Given the description of an element on the screen output the (x, y) to click on. 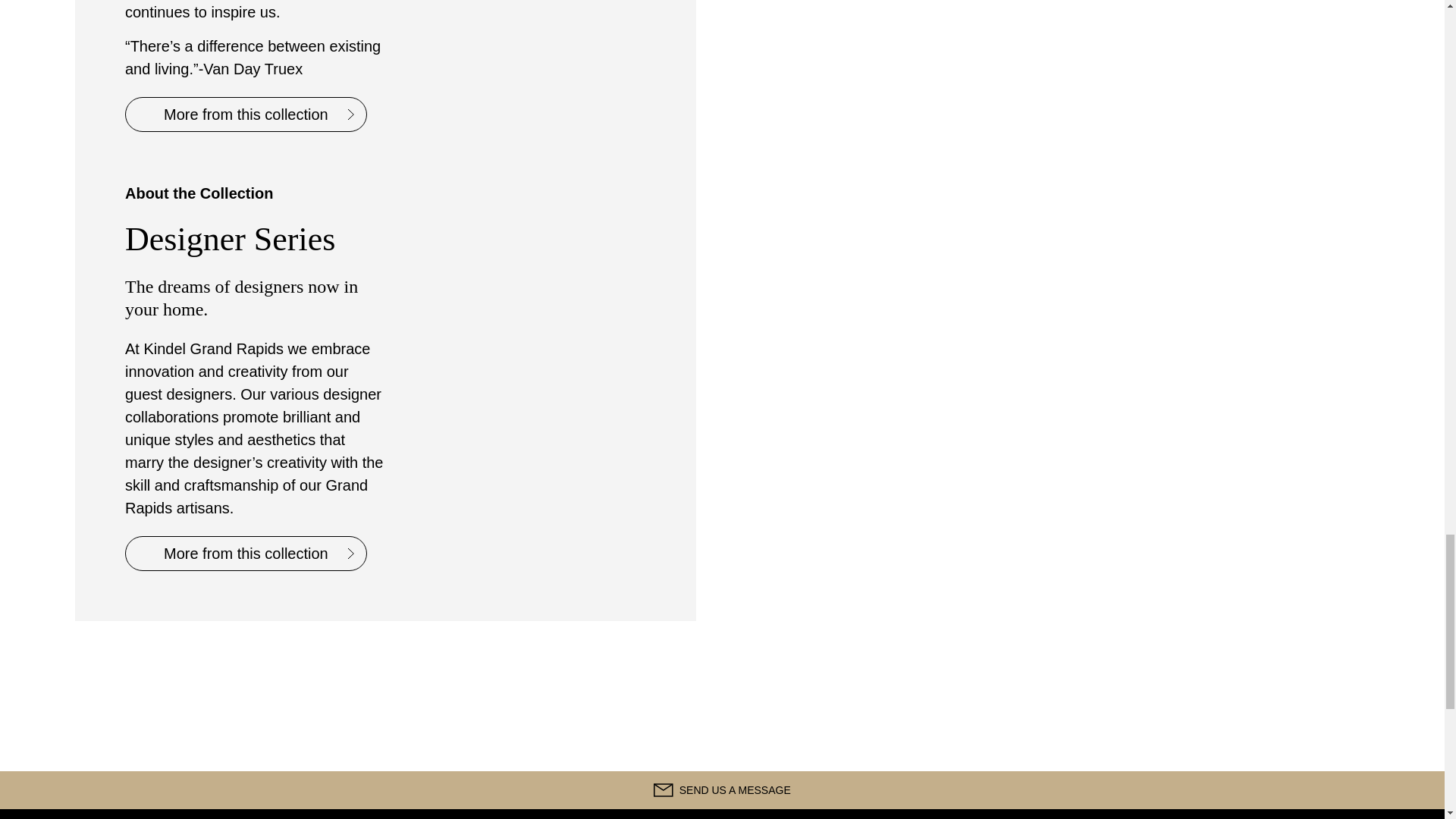
More from this collection (245, 553)
More from this collection (245, 114)
More from this collection (245, 553)
More from this collection (245, 114)
